Given the description of an element on the screen output the (x, y) to click on. 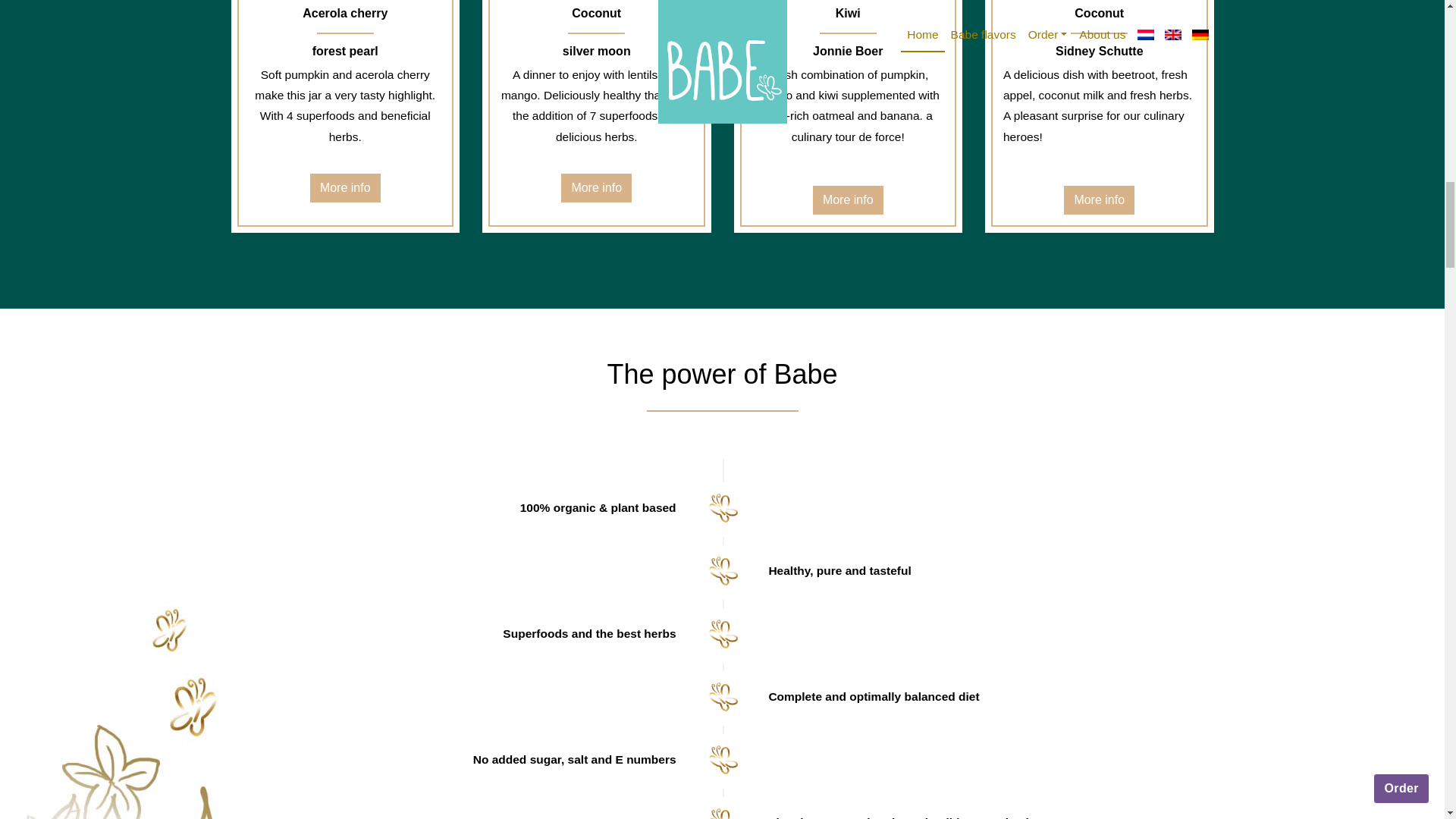
More info (595, 187)
More info (1099, 199)
More info (345, 187)
More info (847, 199)
More info (345, 187)
More info (595, 187)
More info (847, 199)
